Given the description of an element on the screen output the (x, y) to click on. 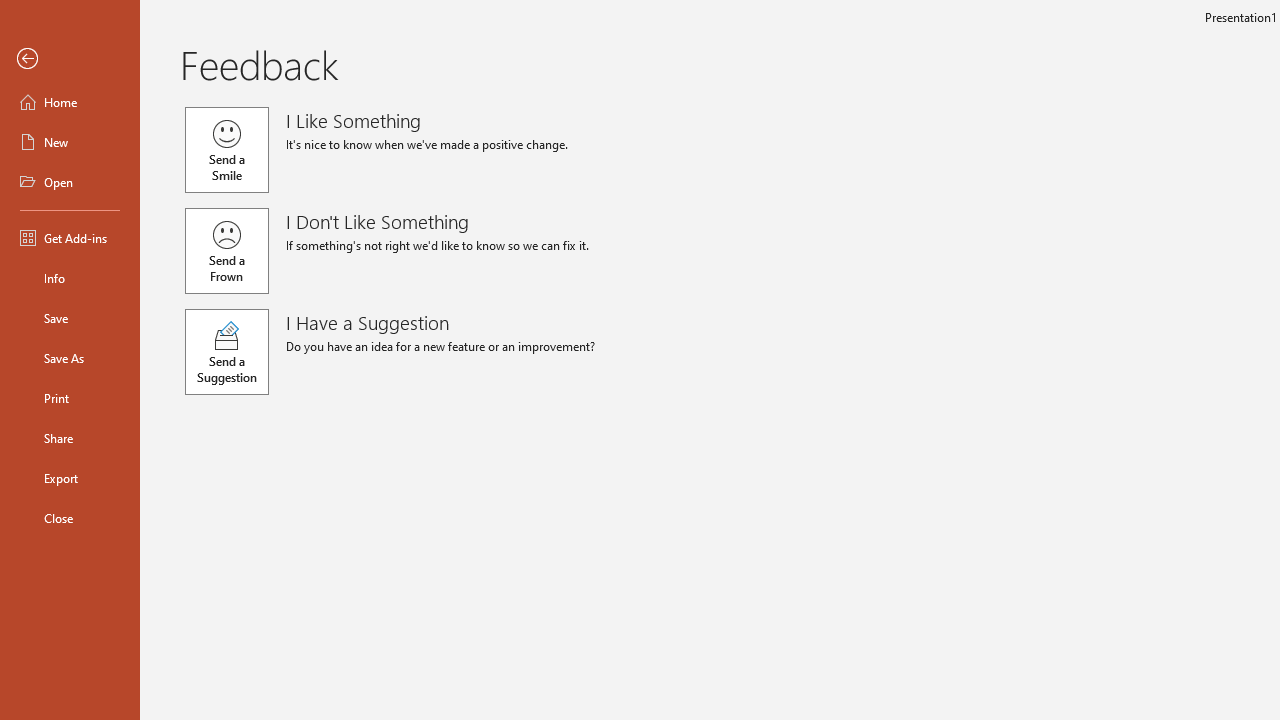
Info (69, 277)
Save As (69, 357)
Back (69, 59)
Send a Smile (226, 149)
New (69, 141)
Open (69, 182)
Send a Frown (226, 250)
Send a Suggestion (226, 351)
Get Add-ins (69, 237)
